Given the description of an element on the screen output the (x, y) to click on. 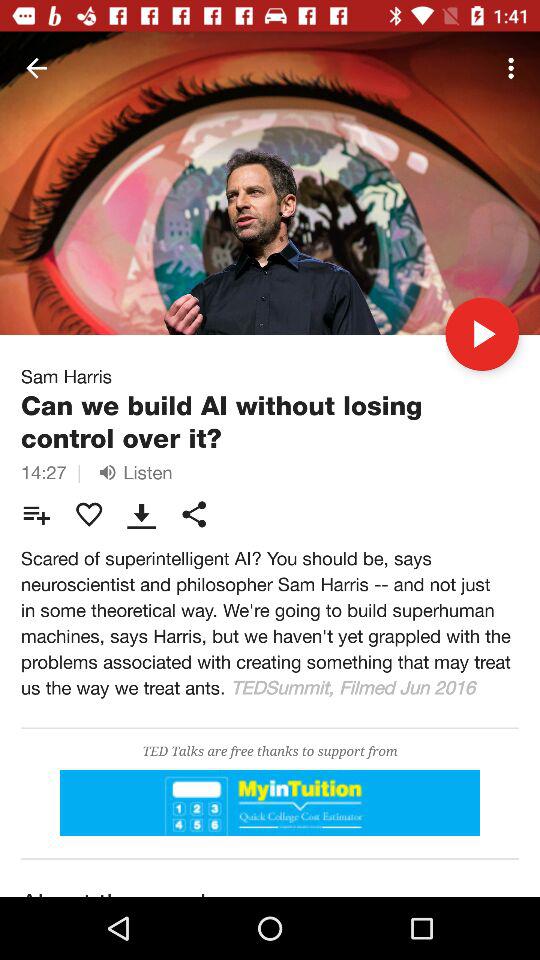
select the share icon (194, 514)
select the icon left to favorites (36, 514)
